Given the description of an element on the screen output the (x, y) to click on. 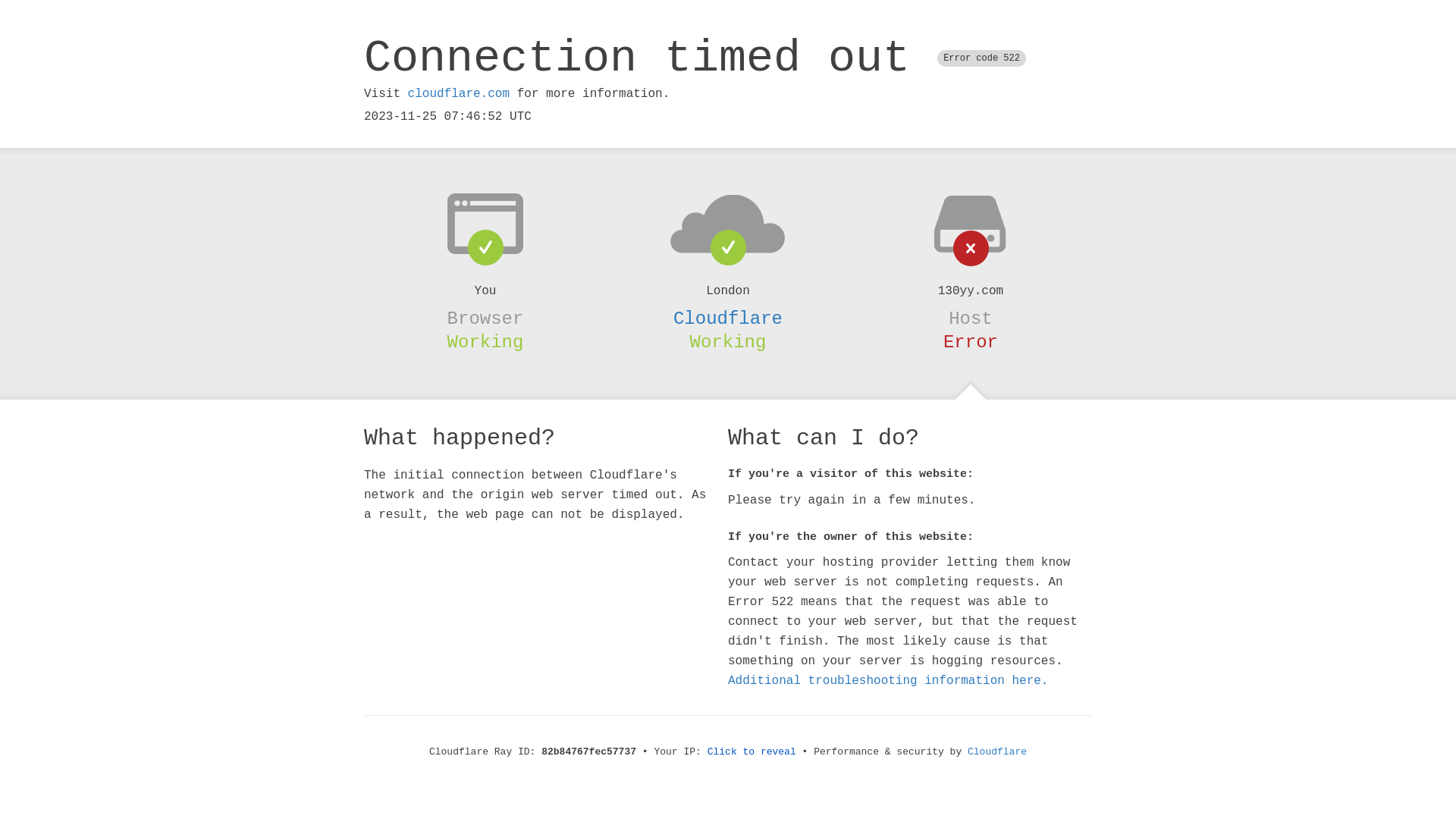
Cloudflare Element type: text (727, 318)
cloudflare.com Element type: text (458, 93)
Click to reveal Element type: text (751, 751)
Additional troubleshooting information here. Element type: text (888, 680)
Cloudflare Element type: text (996, 751)
